Given the description of an element on the screen output the (x, y) to click on. 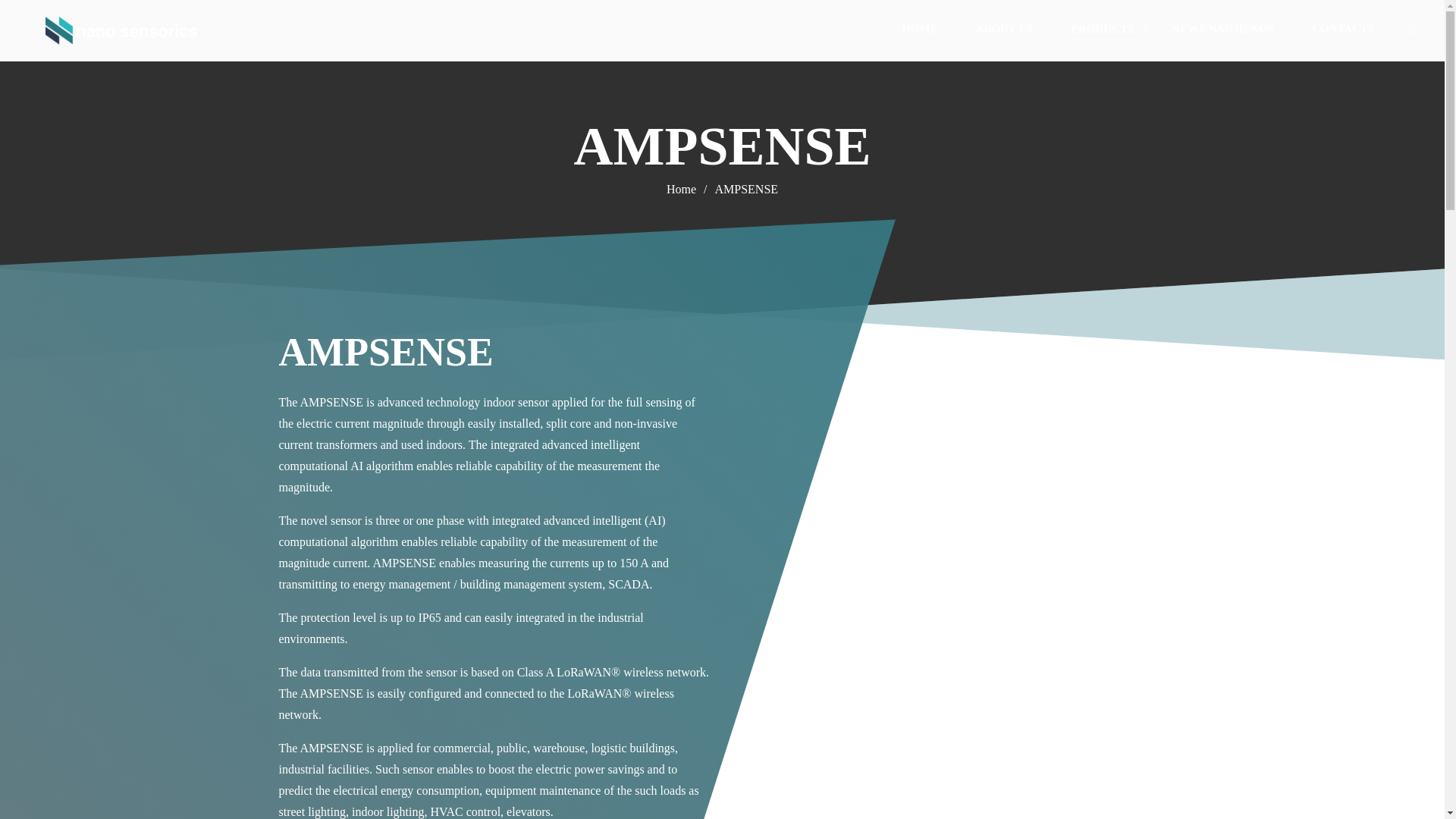
CONTACTS (1342, 28)
ABOUT US (1004, 28)
HOME (920, 28)
PRODUCTS (1102, 28)
